Given the description of an element on the screen output the (x, y) to click on. 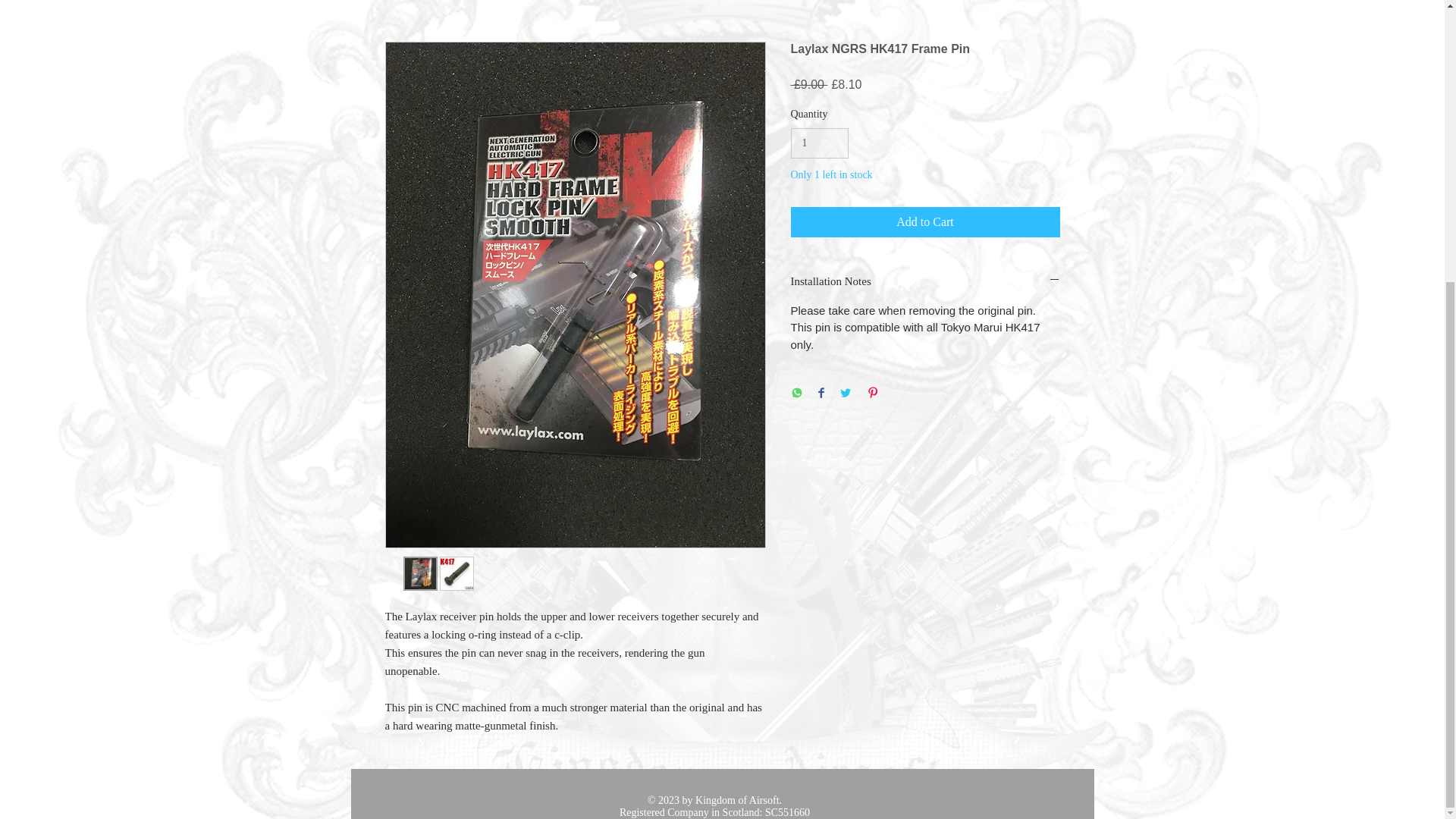
1 (818, 142)
Add to Cart (924, 222)
Installation Notes (924, 281)
